Given the description of an element on the screen output the (x, y) to click on. 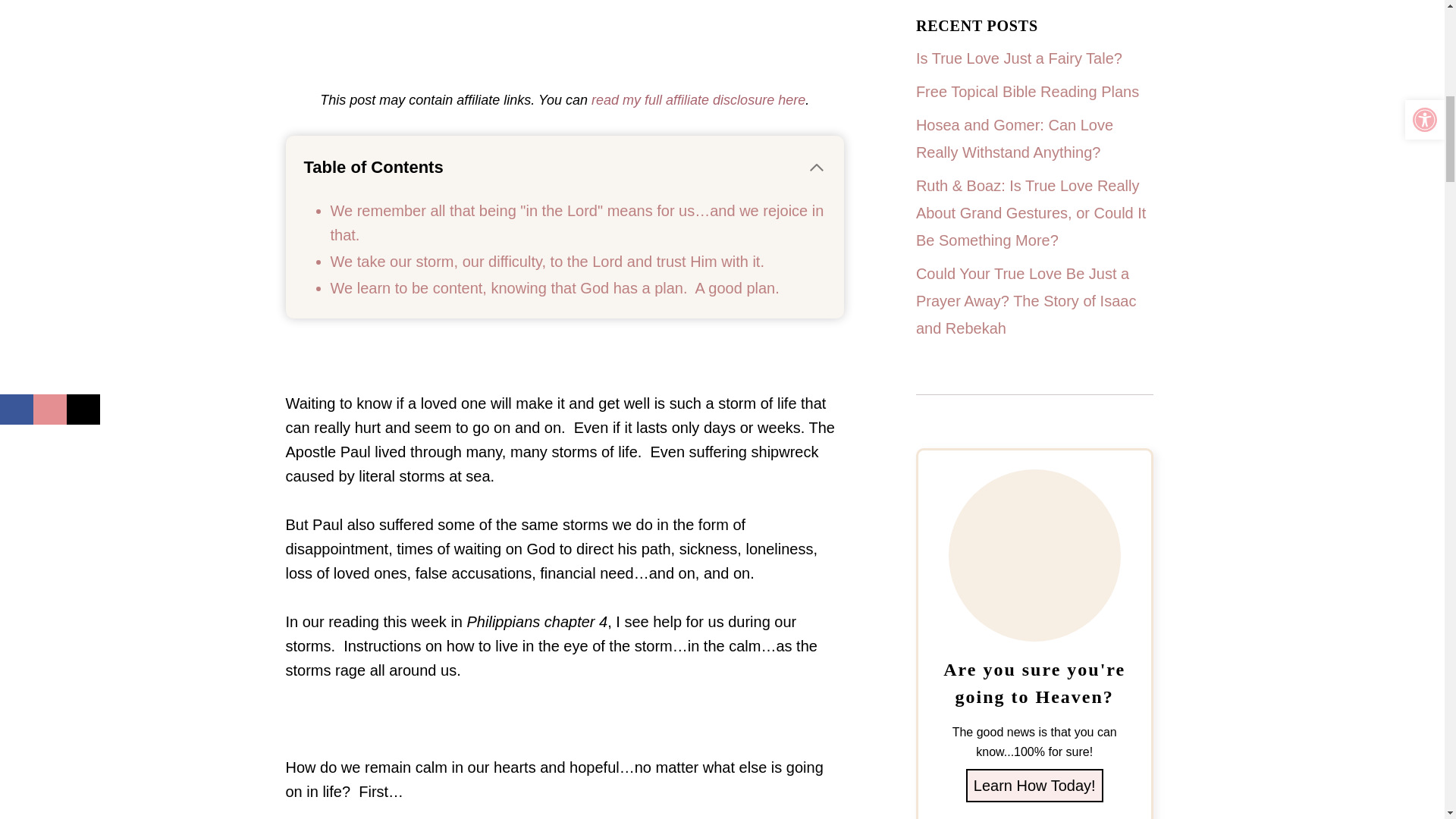
read my full affiliate disclosure here (698, 99)
